Given the description of an element on the screen output the (x, y) to click on. 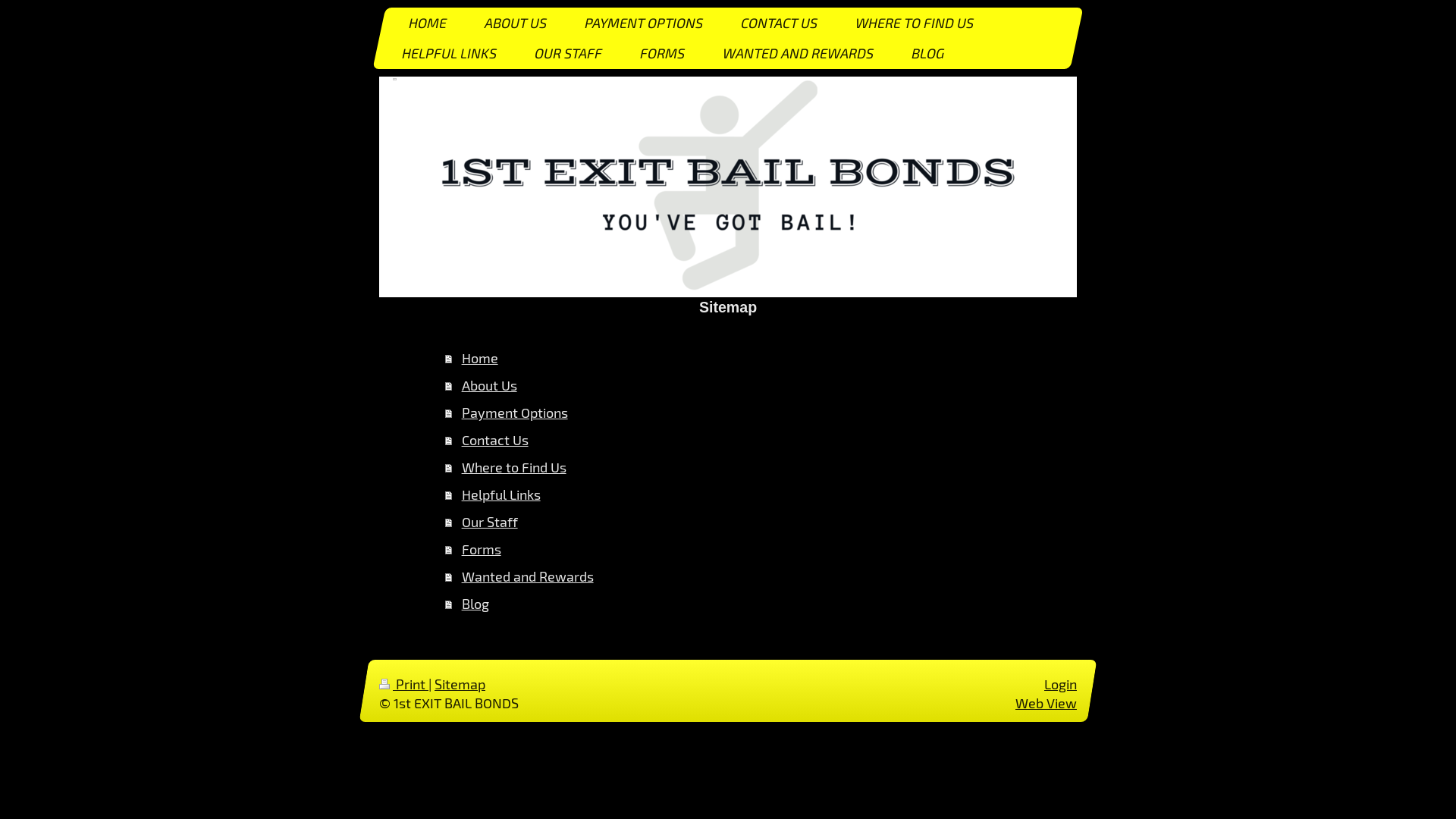
WHERE TO FIND US Element type: text (911, 22)
Login Element type: text (1060, 683)
Contact Us Element type: text (738, 439)
Print Element type: text (403, 683)
HOME Element type: text (424, 22)
CONTACT US Element type: text (775, 22)
Sitemap Element type: text (459, 683)
OUR STAFF Element type: text (565, 52)
FORMS Element type: text (658, 52)
About Us Element type: text (738, 384)
HELPFUL LINKS Element type: text (445, 52)
Web View Element type: text (1045, 702)
Forms Element type: text (738, 548)
Payment Options Element type: text (738, 412)
Our Staff Element type: text (738, 521)
WANTED AND REWARDS Element type: text (794, 52)
BLOG Element type: text (924, 52)
PAYMENT OPTIONS Element type: text (640, 22)
ABOUT US Element type: text (512, 22)
Wanted and Rewards Element type: text (738, 575)
Home Element type: text (738, 357)
Blog Element type: text (738, 603)
Helpful Links Element type: text (738, 494)
Where to Find Us Element type: text (738, 466)
